Given the description of an element on the screen output the (x, y) to click on. 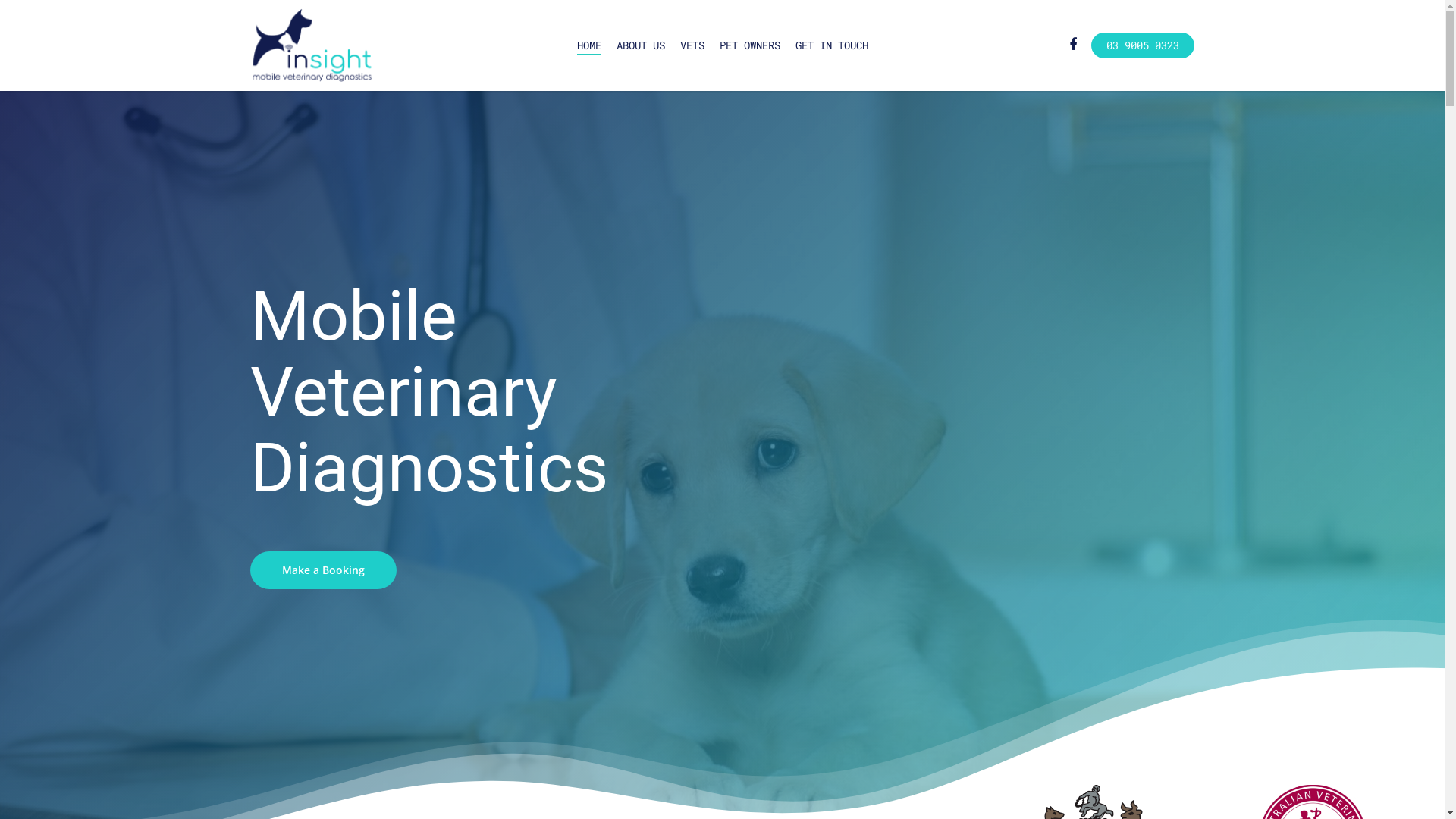
HOME Element type: text (588, 45)
PET OWNERS Element type: text (748, 45)
03 9005 0323 Element type: text (1142, 45)
GET IN TOUCH Element type: text (830, 45)
VETS Element type: text (691, 45)
Make a Booking Element type: text (323, 570)
ABOUT US Element type: text (639, 45)
